Given the description of an element on the screen output the (x, y) to click on. 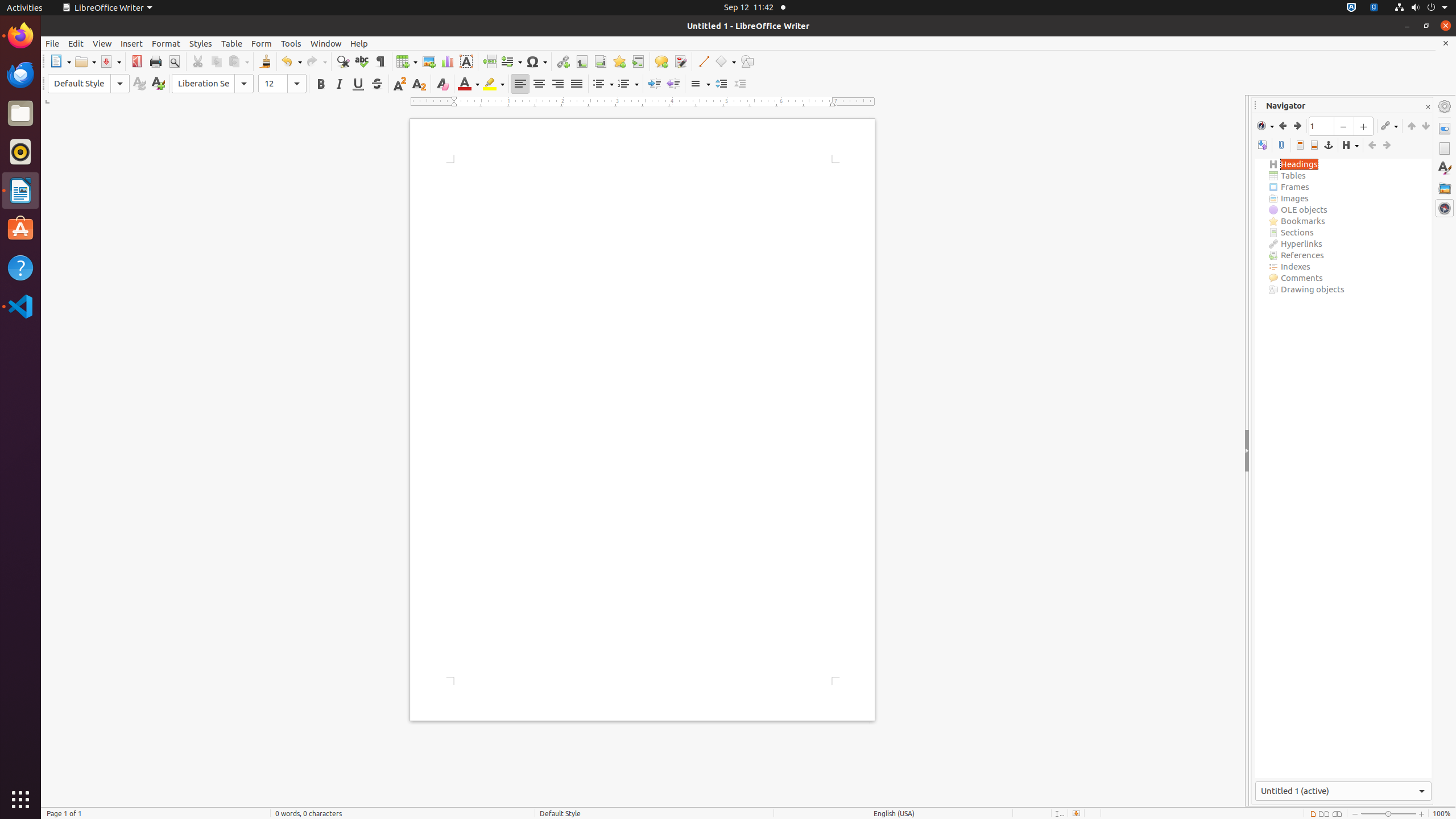
Italic Element type: toggle-button (338, 83)
Heading Levels Shown Element type: push-button (1349, 144)
Properties Element type: radio-button (1444, 128)
Open Element type: push-button (84, 61)
Bold Element type: toggle-button (320, 83)
